Given the description of an element on the screen output the (x, y) to click on. 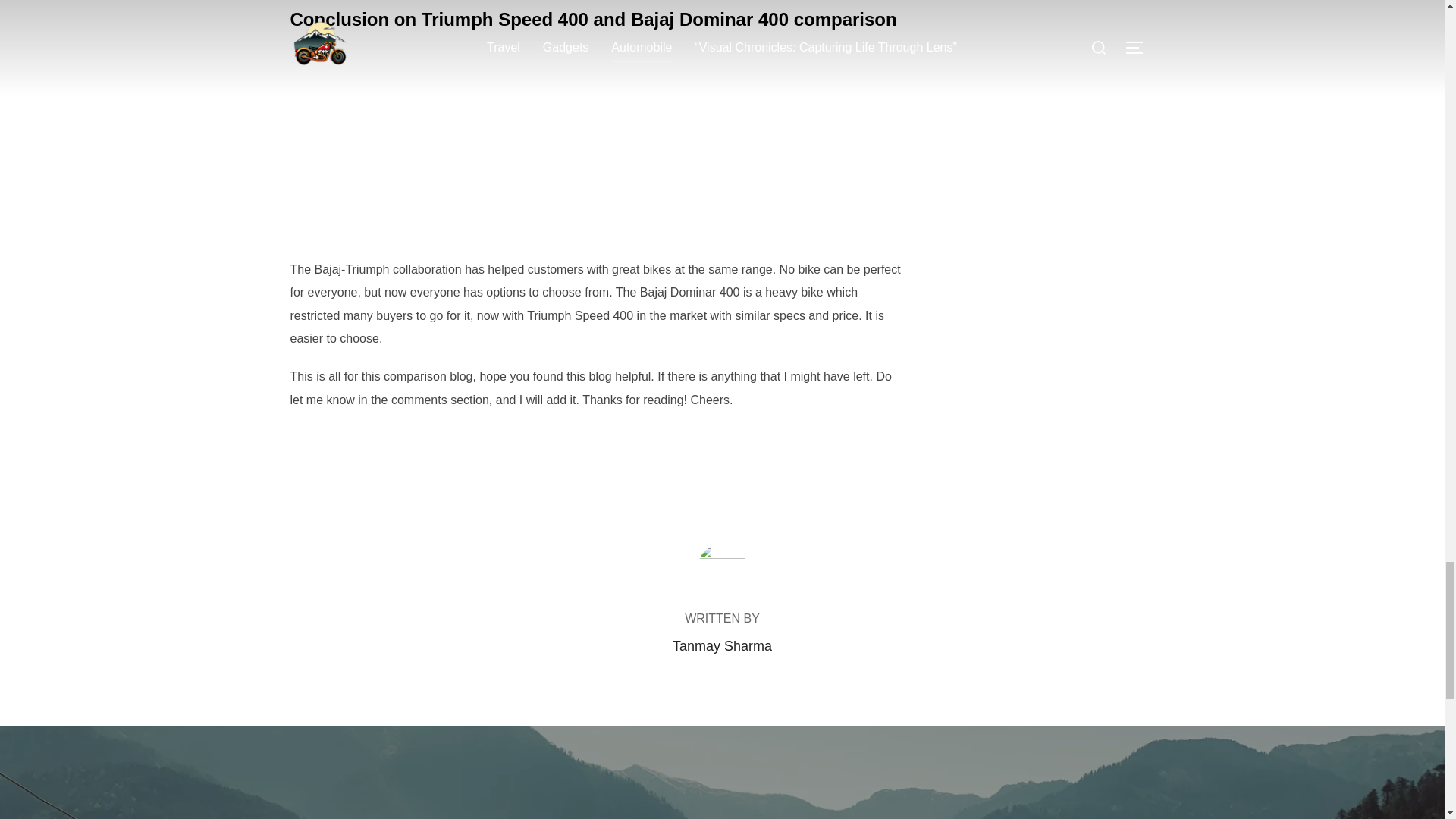
Posts by Tanmay Sharma (721, 645)
Tanmay Sharma (721, 645)
